Given the description of an element on the screen output the (x, y) to click on. 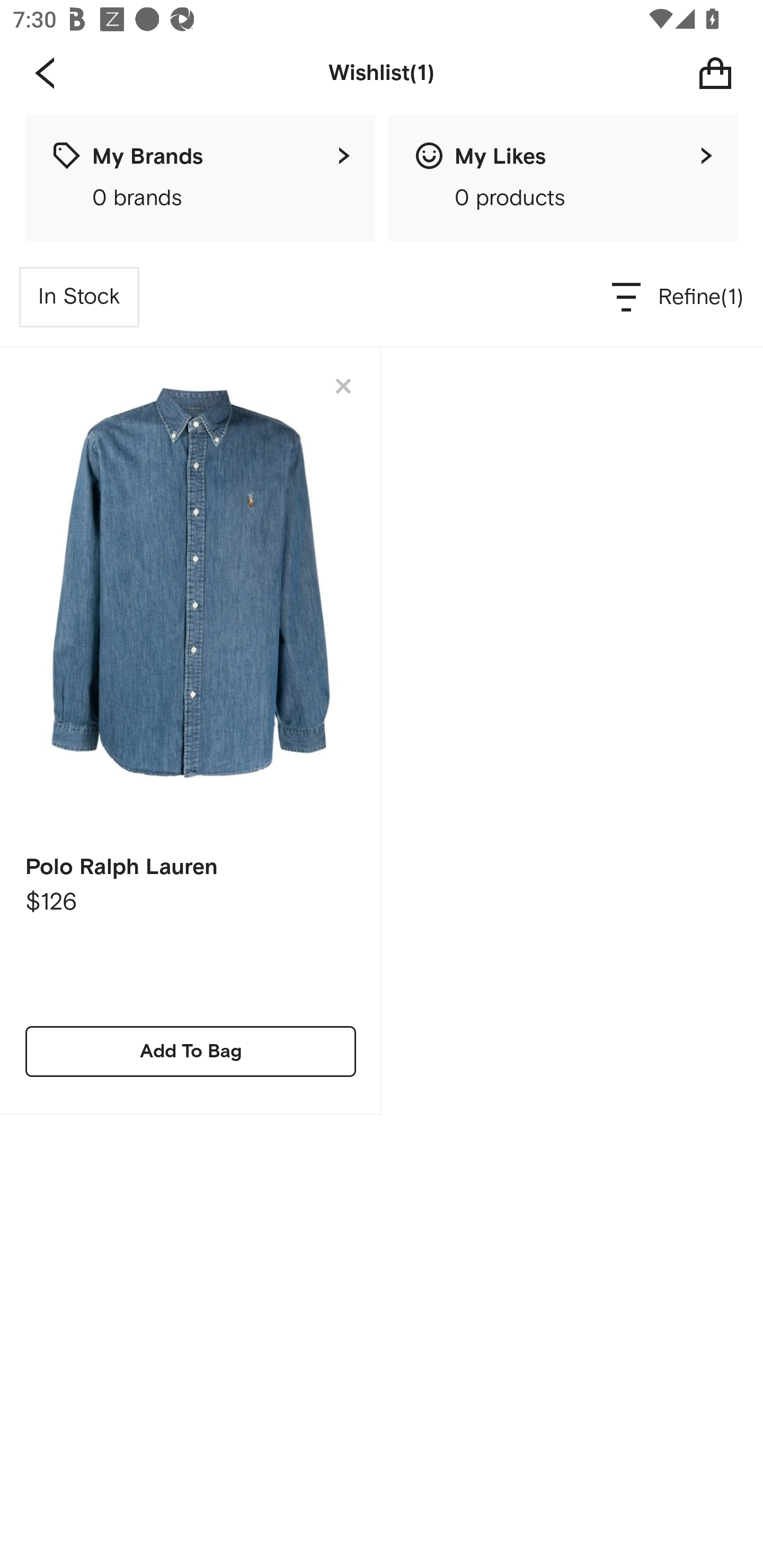
My Brands 0 brands (200, 177)
My Likes 0 products (562, 177)
In Stock (79, 296)
Refine(1) (678, 296)
Polo Ralph Lauren $126 Add To Bag (190, 731)
Add To Bag (190, 1050)
